Given the description of an element on the screen output the (x, y) to click on. 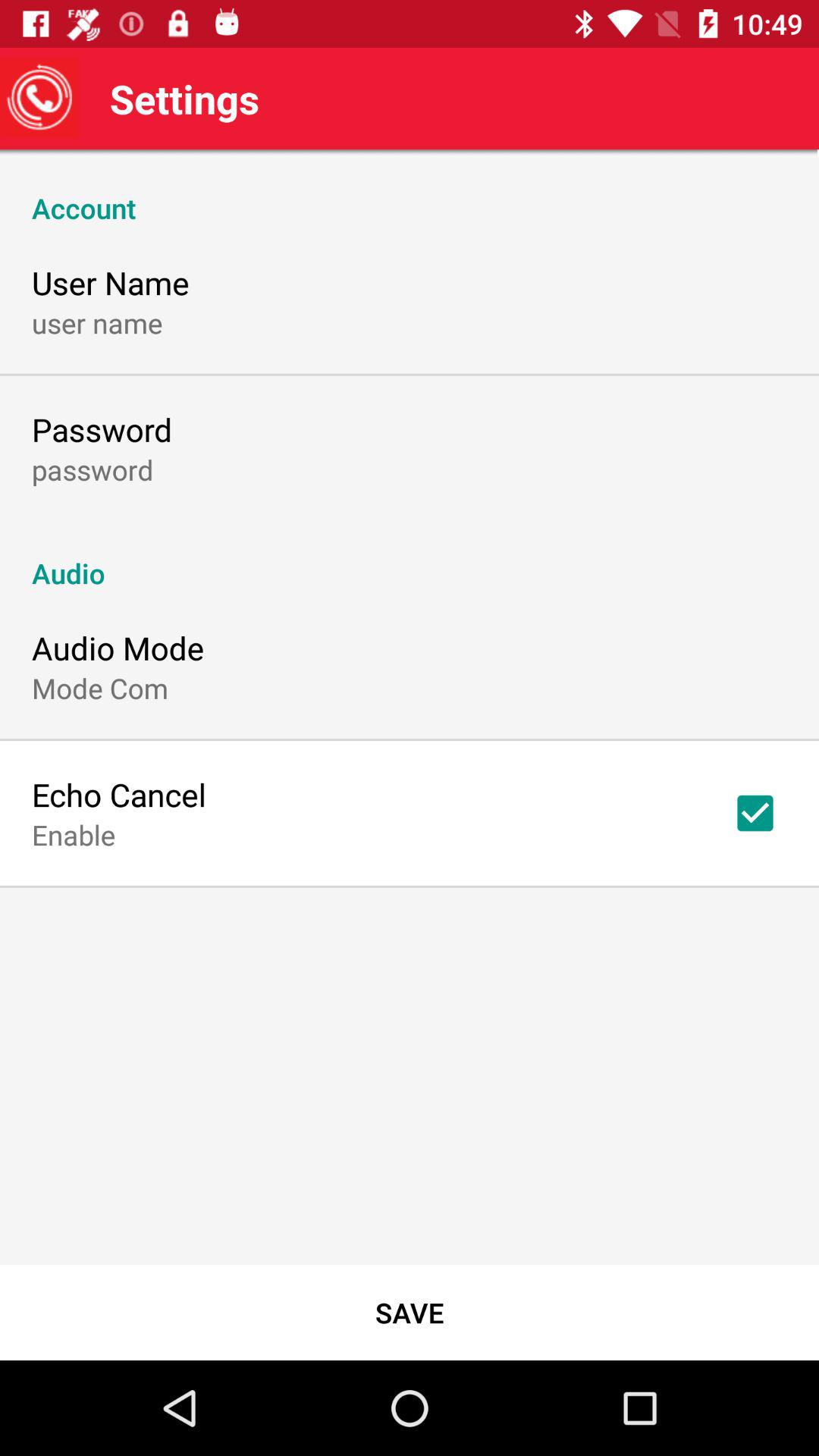
press app to the right of echo cancel (755, 813)
